Given the description of an element on the screen output the (x, y) to click on. 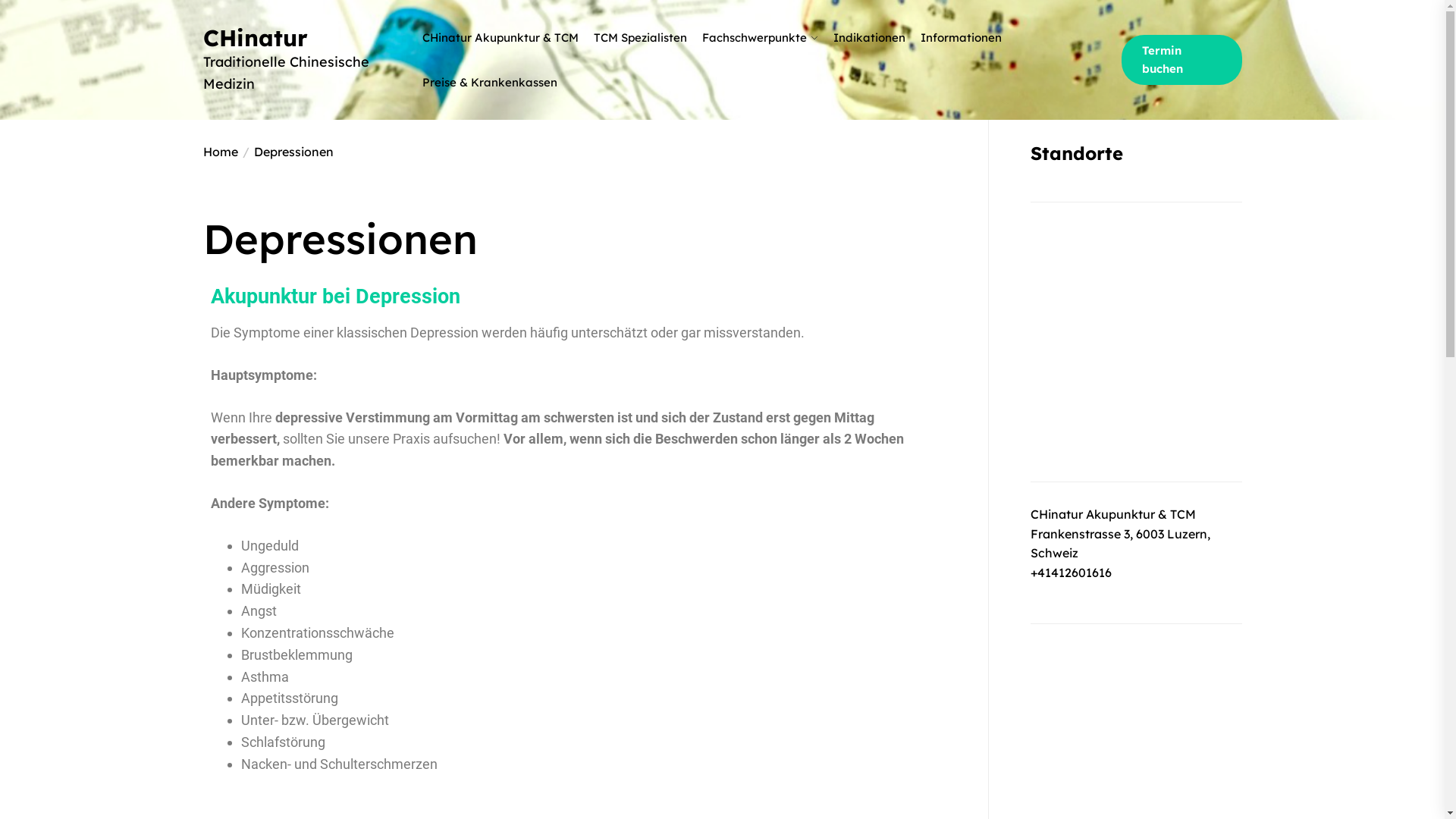
CHinatur Element type: text (309, 37)
CHinatur Akupunktur & TCM Element type: text (500, 37)
TCM Spezialisten Element type: text (640, 37)
Informationen Element type: text (960, 37)
Termin buchen Element type: text (1181, 59)
Home Element type: text (220, 151)
Depressionen Element type: text (285, 151)
Indikationen Element type: text (869, 37)
Fachschwerpunkte Element type: text (754, 37)
Preise & Krankenkassen Element type: text (489, 81)
